Given the description of an element on the screen output the (x, y) to click on. 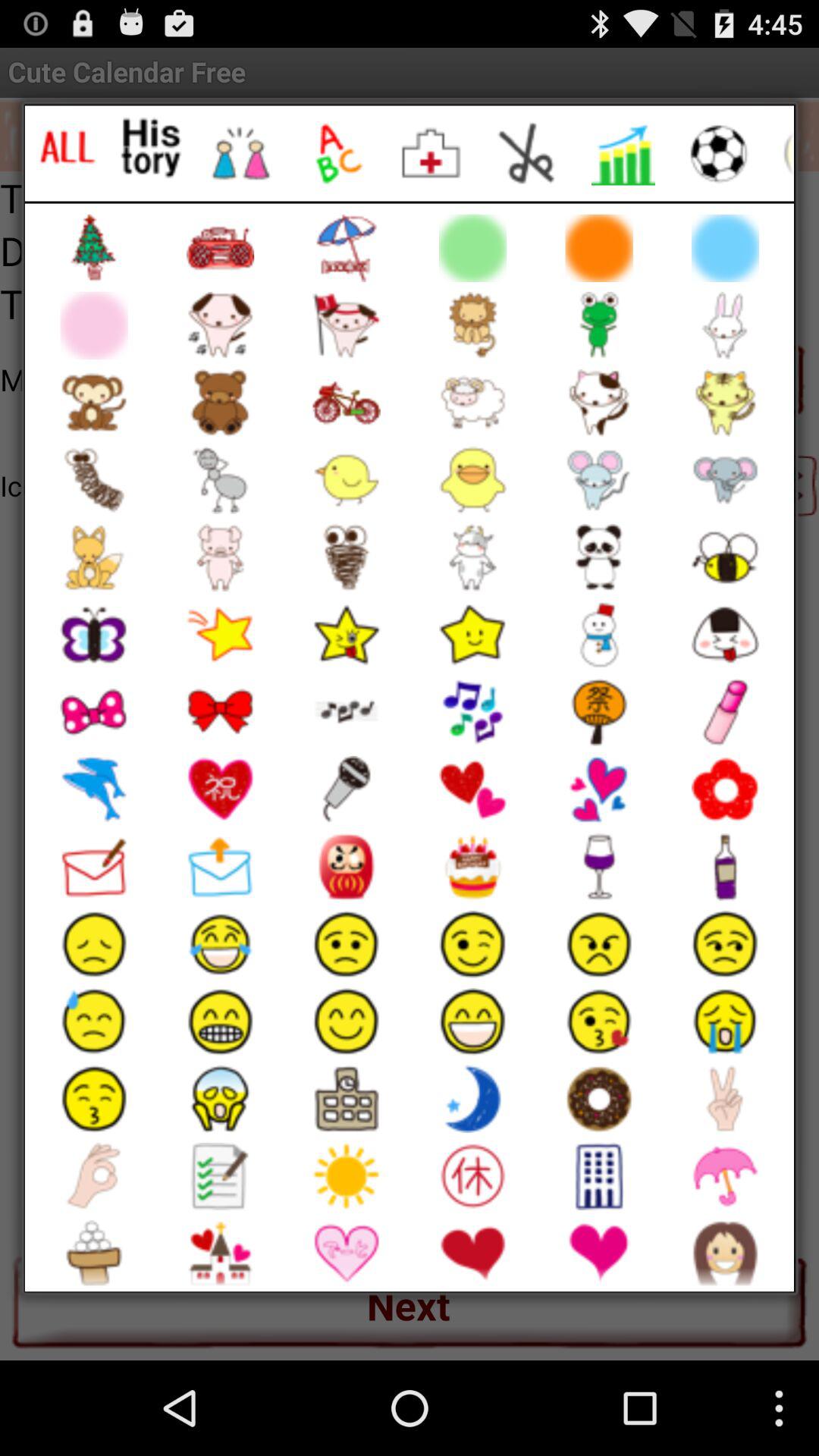
football picture/sticker (718, 153)
